Given the description of an element on the screen output the (x, y) to click on. 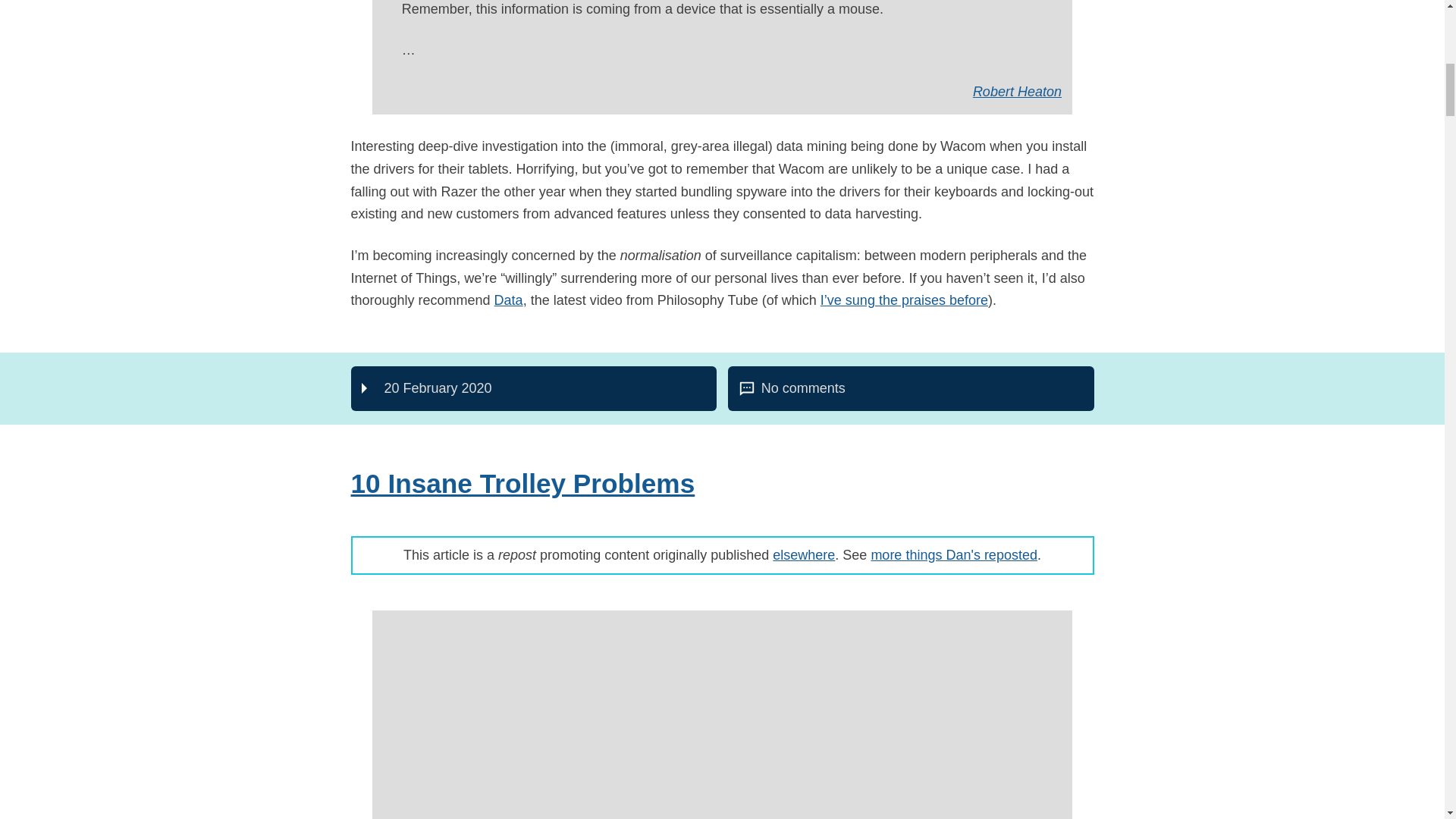
No comments (911, 388)
Data (1016, 91)
10 Insane Trolley Problems (508, 299)
